Given the description of an element on the screen output the (x, y) to click on. 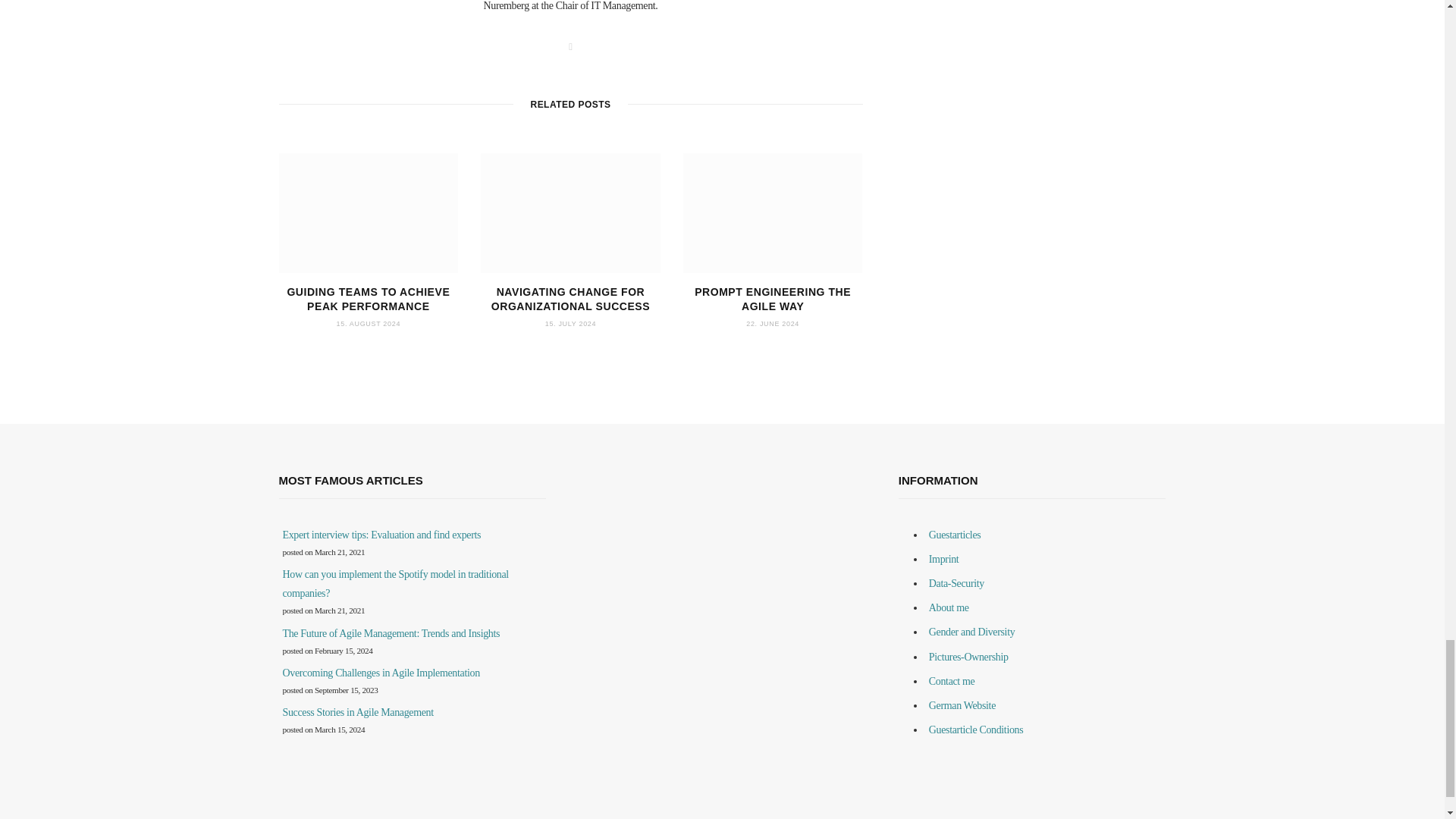
Prompt engineering the Agile way (772, 212)
Navigating Change for Organizational Success (570, 212)
Guiding Teams to Achieve Peak Performance (368, 212)
